Given the description of an element on the screen output the (x, y) to click on. 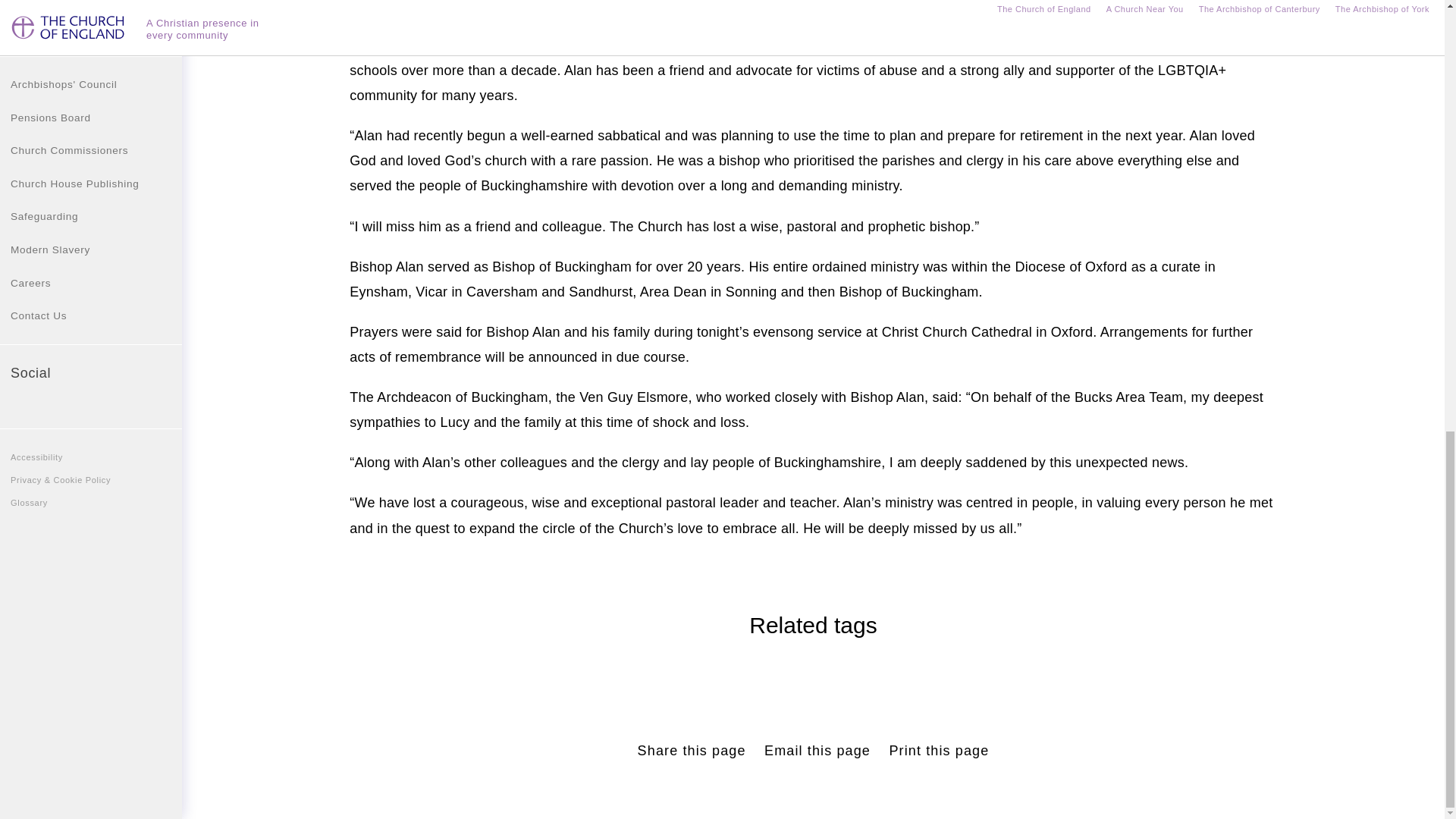
Share this page (692, 750)
Print this page (937, 750)
Email this page (817, 750)
